Given the description of an element on the screen output the (x, y) to click on. 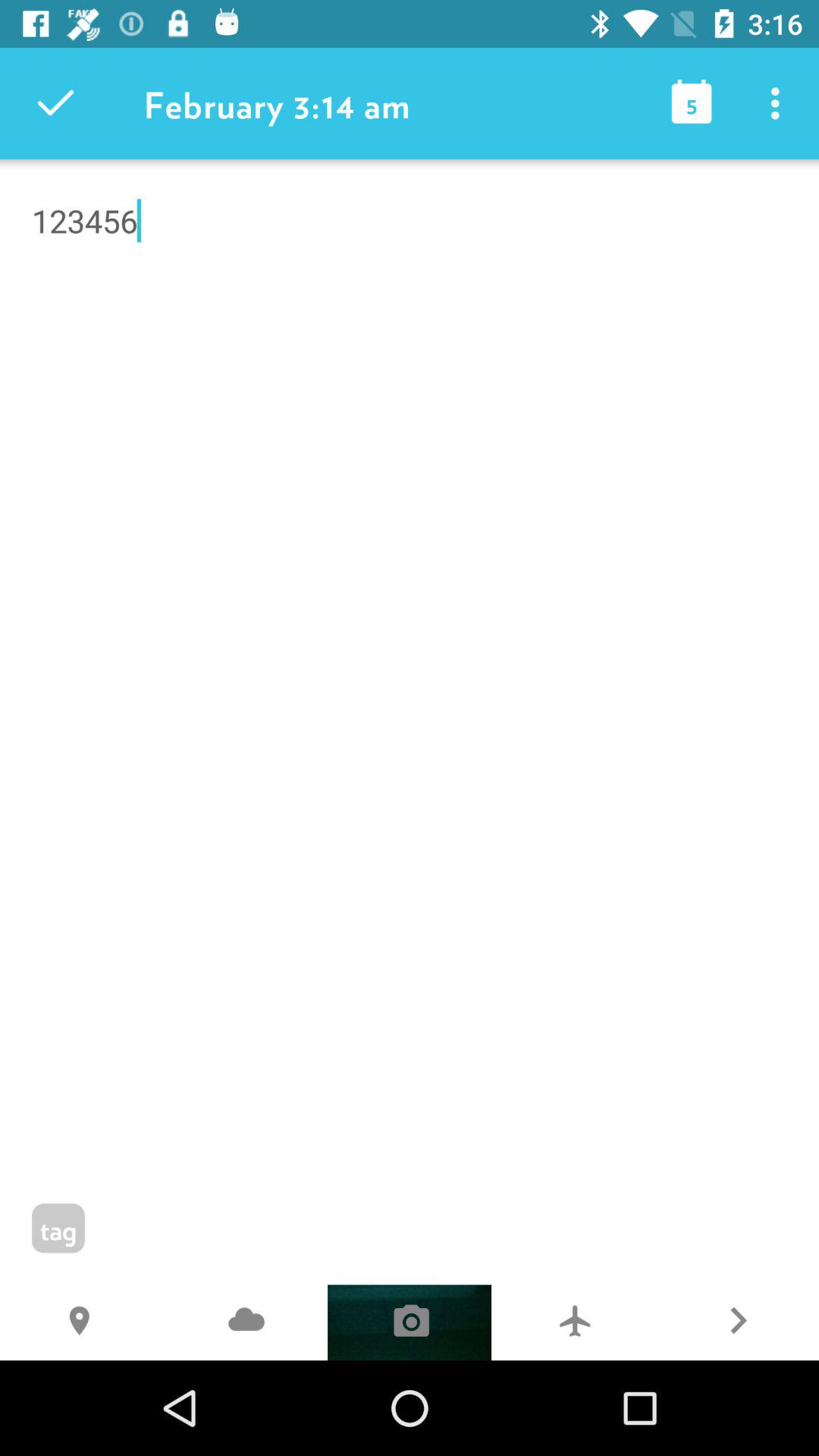
launch the 123456 icon (409, 300)
